Given the description of an element on the screen output the (x, y) to click on. 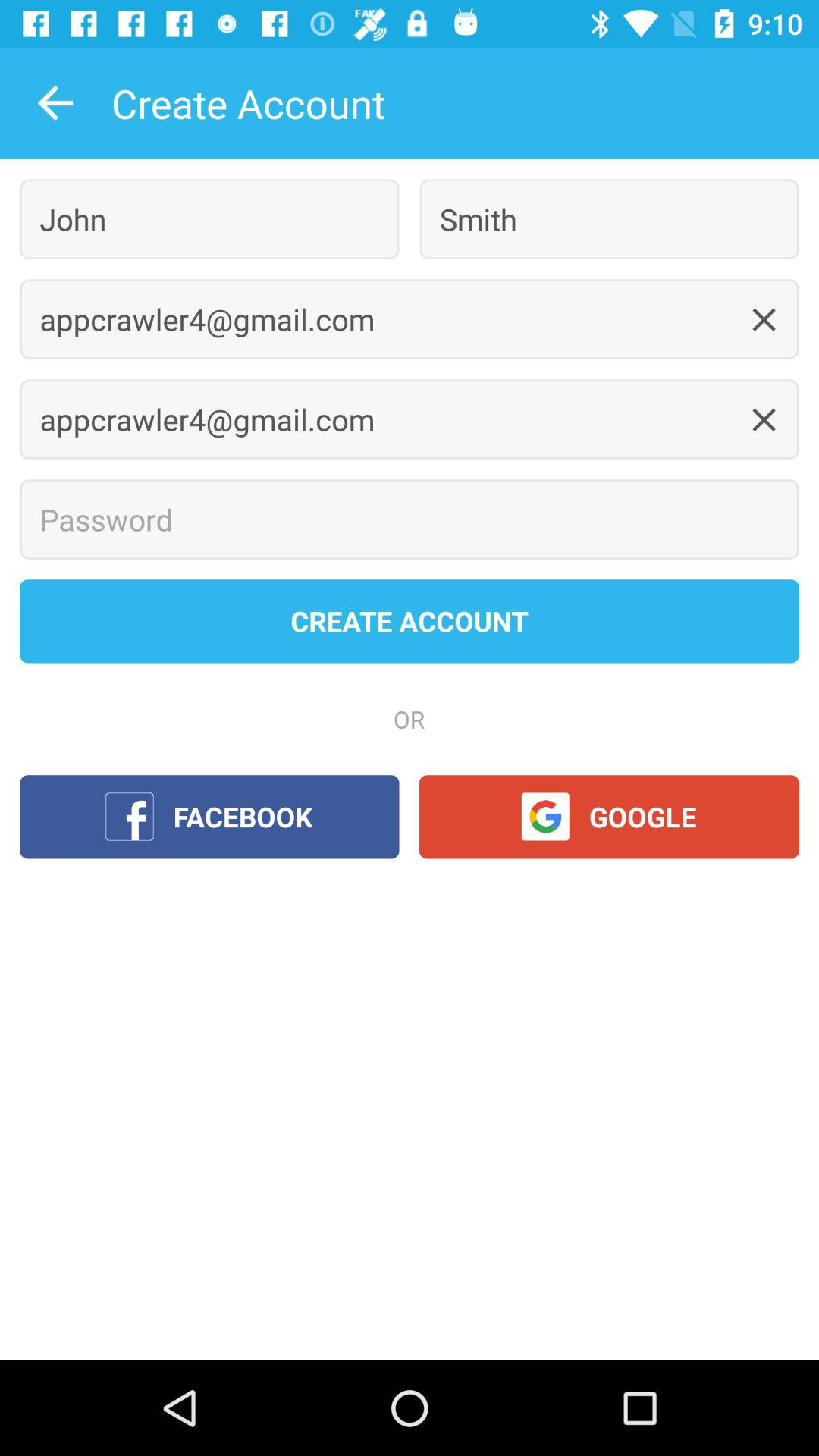
choose the item above the appcrawler4@gmail.com item (209, 219)
